Given the description of an element on the screen output the (x, y) to click on. 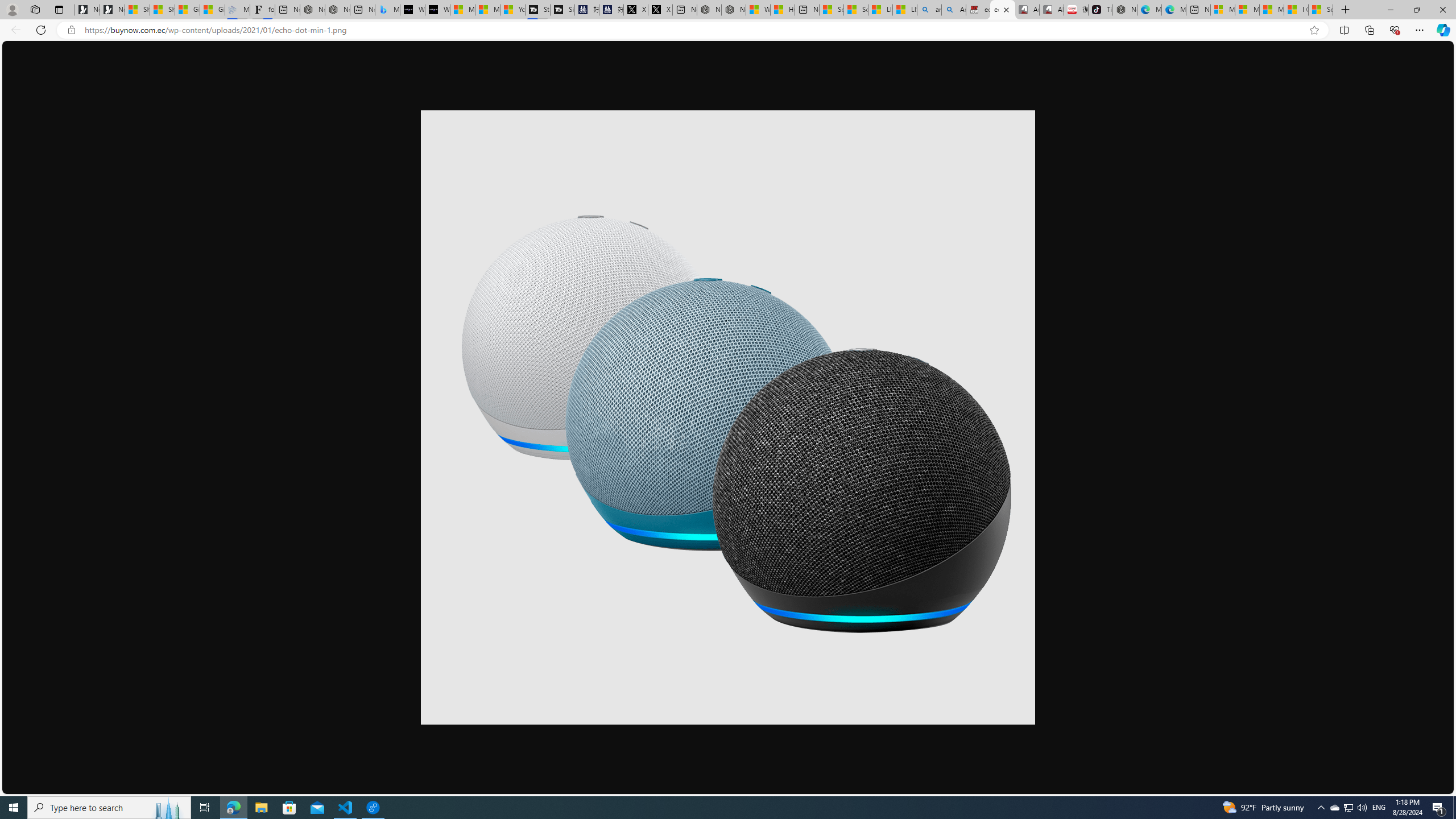
TikTok (1100, 9)
Microsoft Bing Travel - Shangri-La Hotel Bangkok (386, 9)
To get missing image descriptions, open the context menu. (727, 417)
Streaming Coverage | T3 (536, 9)
Nordace - Best Sellers (1124, 9)
